Given the description of an element on the screen output the (x, y) to click on. 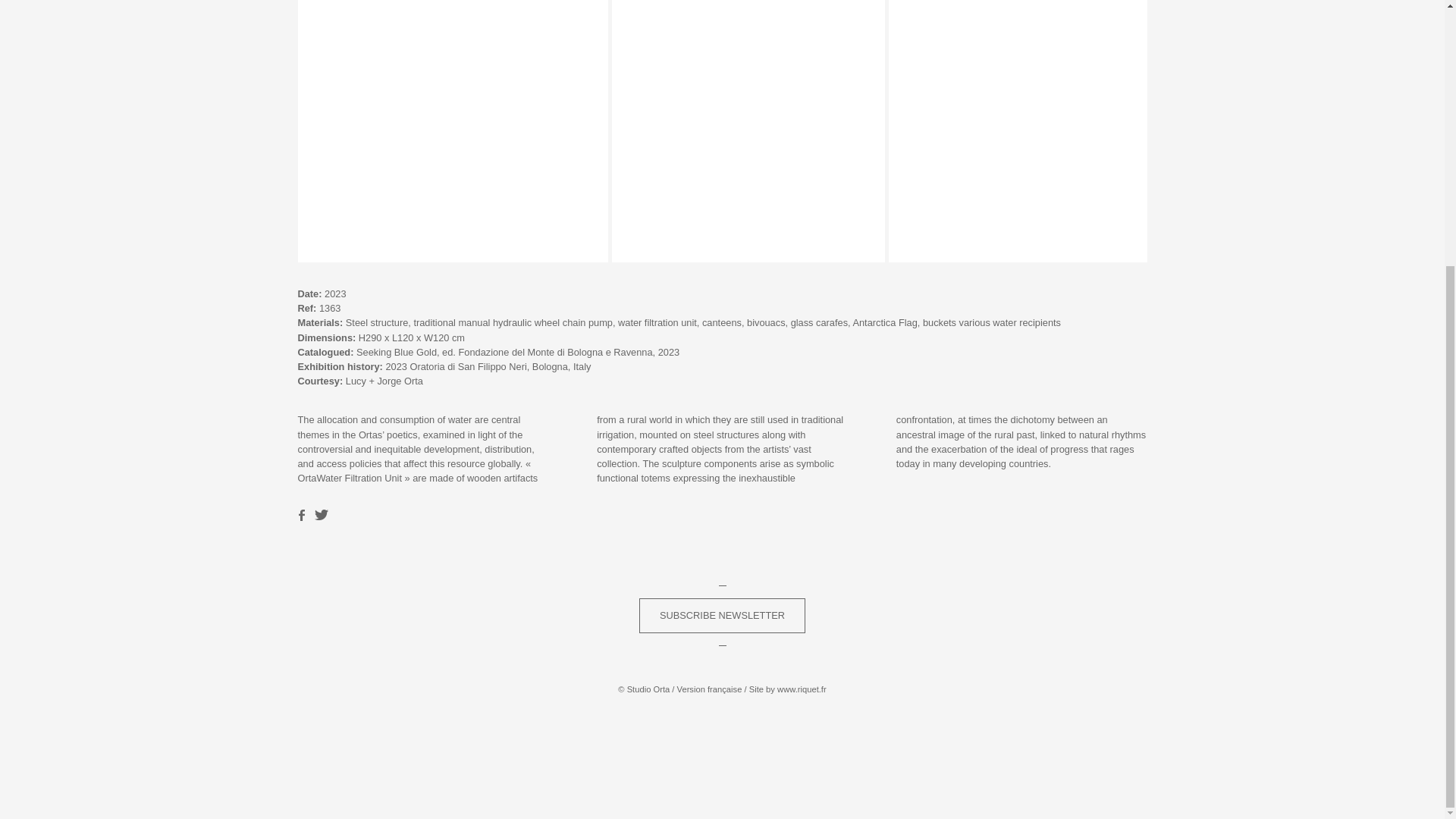
SUBSCRIBE NEWSLETTER (722, 615)
facebook (304, 514)
twitter (321, 514)
www.riquet.fr (802, 688)
